Given the description of an element on the screen output the (x, y) to click on. 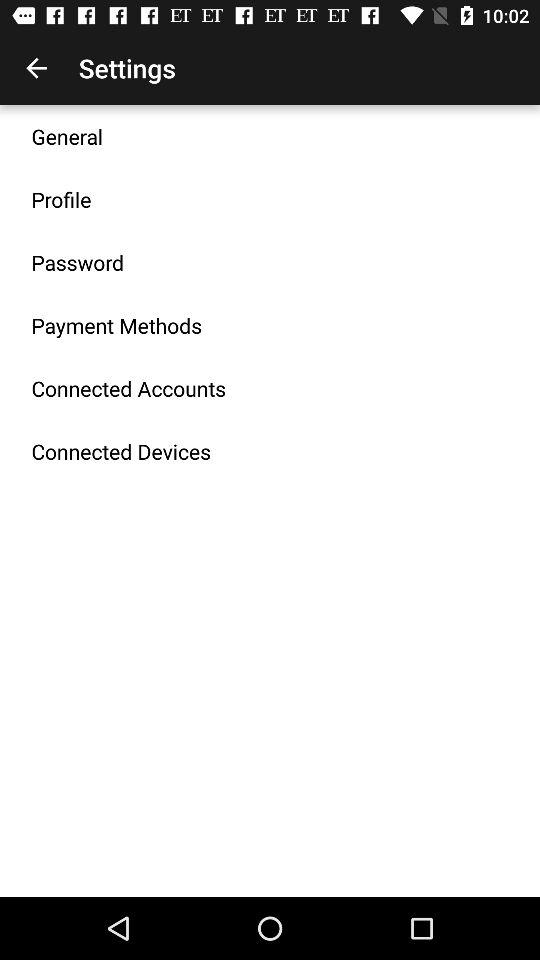
click the icon above the password item (61, 199)
